Given the description of an element on the screen output the (x, y) to click on. 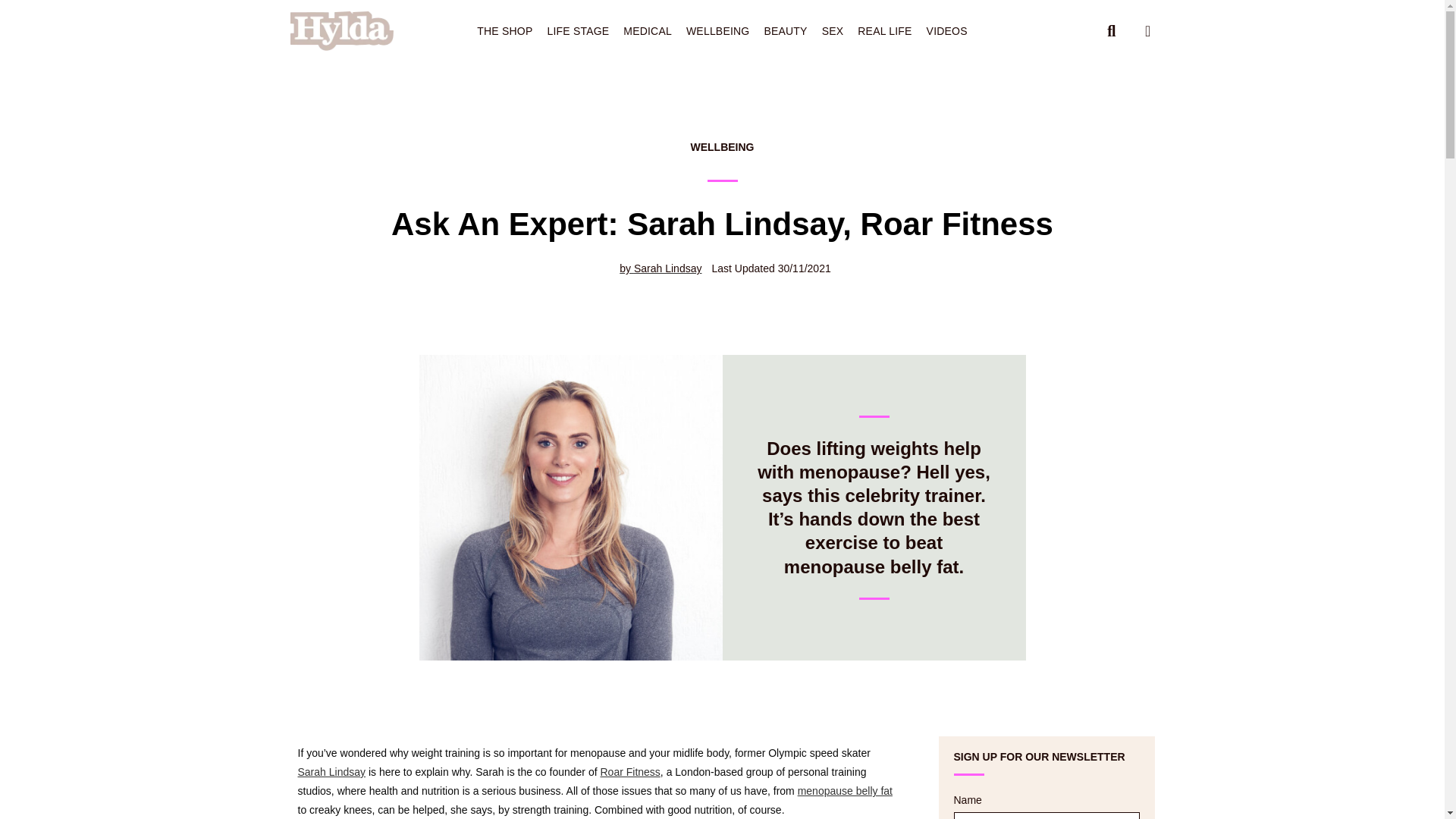
WELLBEING (718, 30)
THE SHOP (504, 30)
MEDICAL (647, 30)
BEAUTY (785, 30)
SEX (832, 30)
LIFE STAGE (577, 30)
REAL LIFE (884, 30)
